Given the description of an element on the screen output the (x, y) to click on. 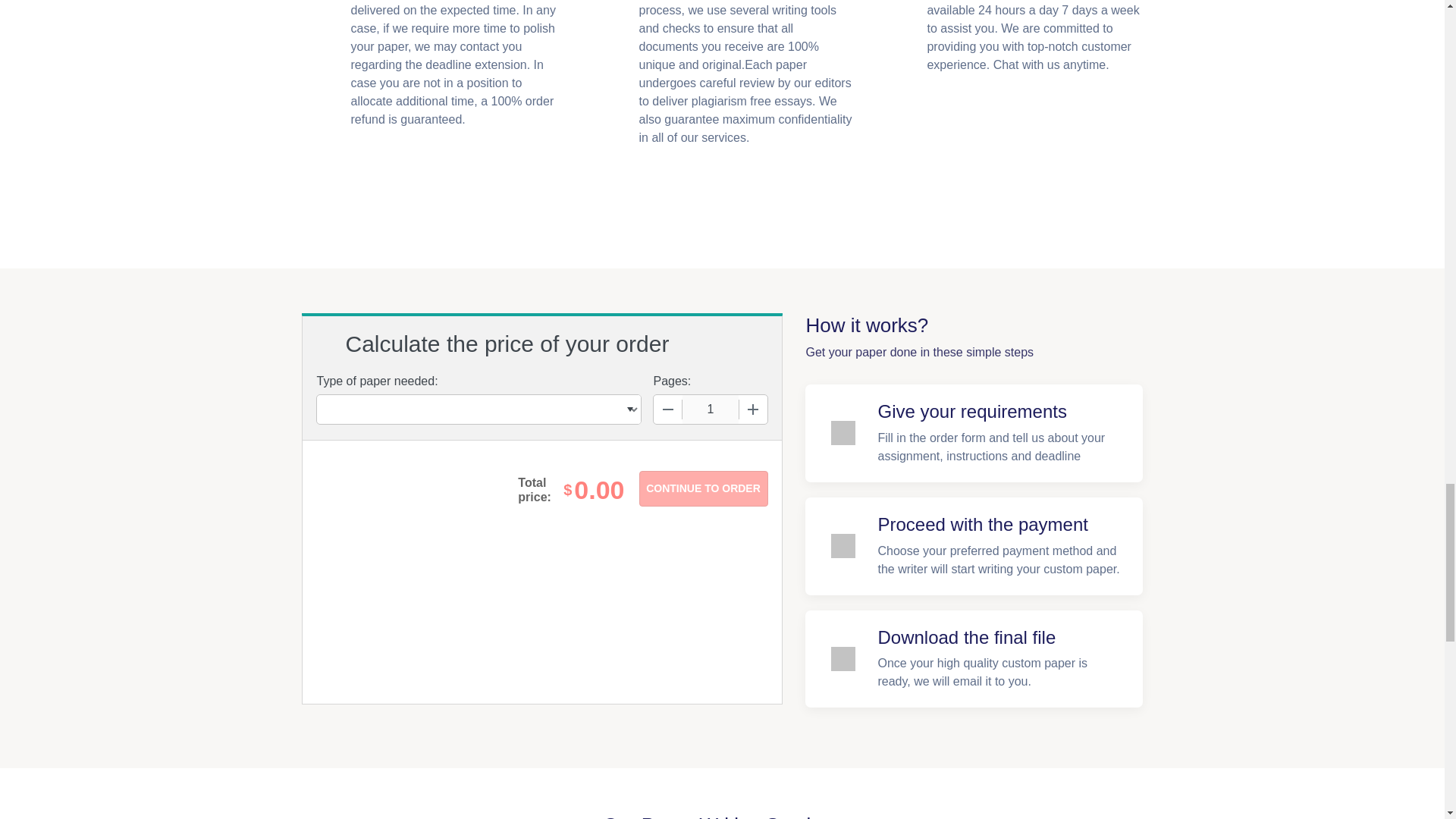
Continue to order (703, 488)
Increase (752, 409)
1 (710, 409)
Continue to order (703, 488)
Decrease (667, 409)
Continue to Order (703, 488)
